Given the description of an element on the screen output the (x, y) to click on. 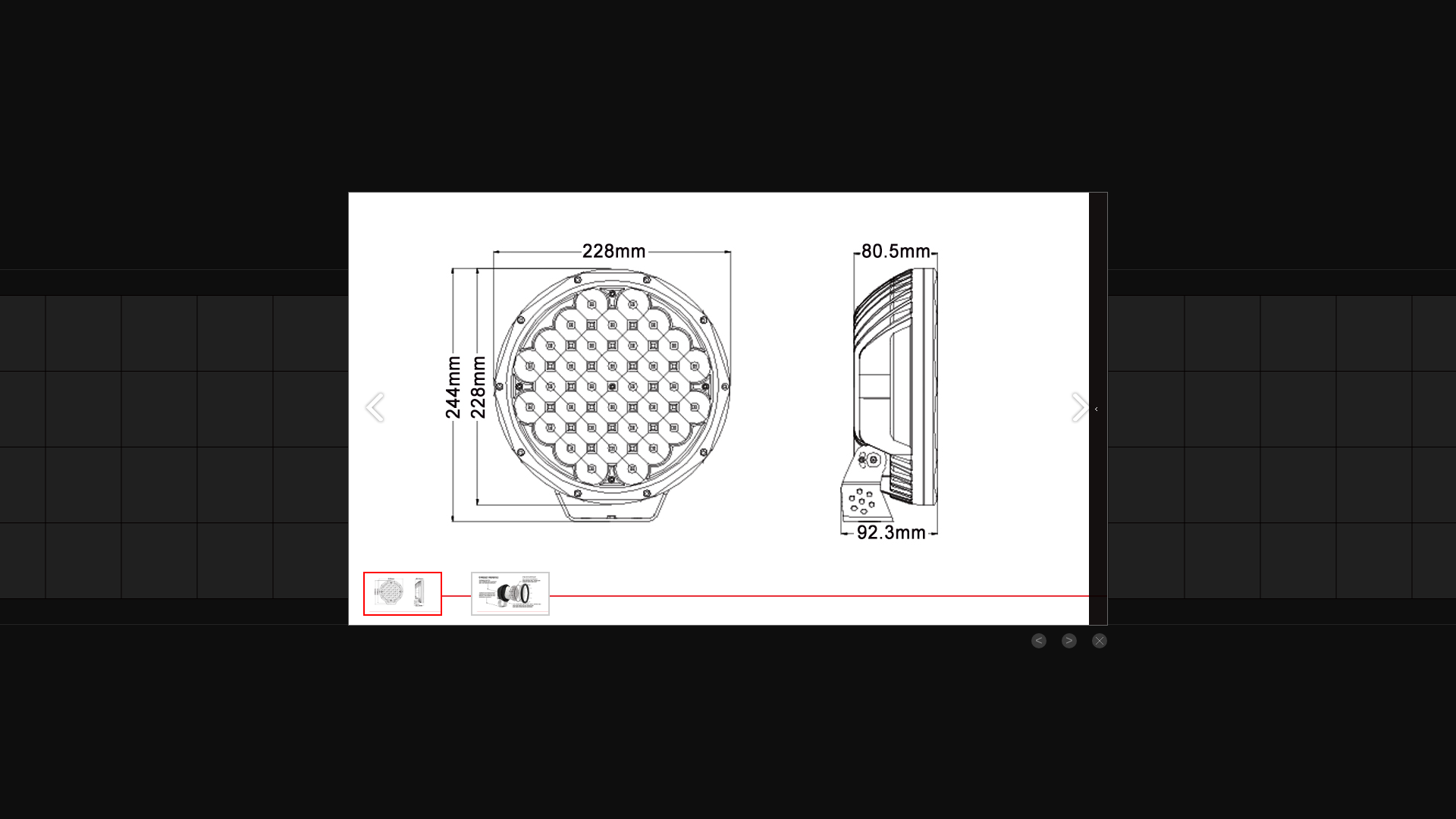
Download Element type: text (558, 281)
> Element type: text (1068, 640)
Products Element type: text (493, 281)
Contacts Element type: text (670, 281)
Company Element type: text (430, 281)
News Element type: text (615, 281)
< Element type: text (1038, 640)
Home Element type: text (373, 281)
